Given the description of an element on the screen output the (x, y) to click on. 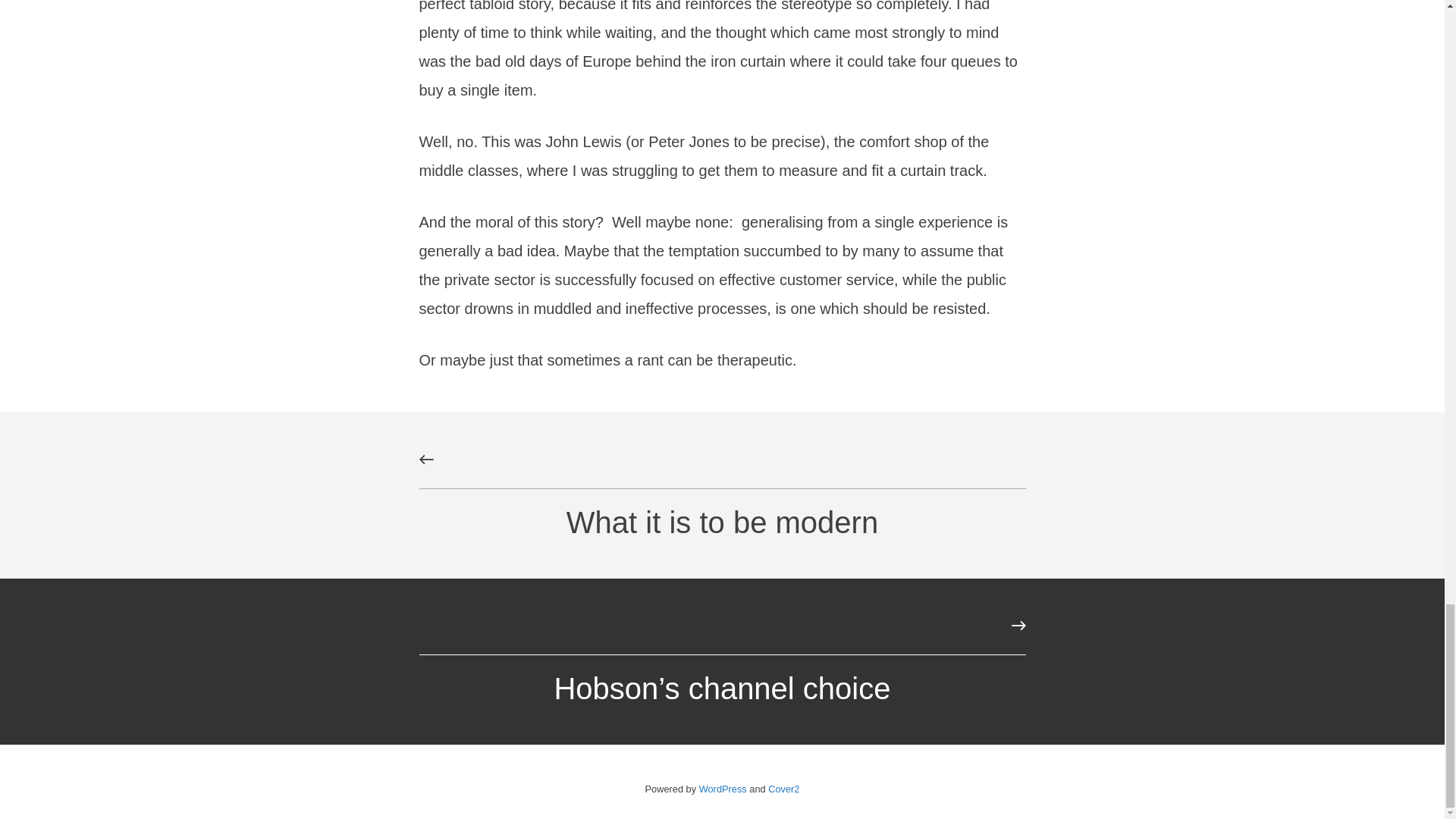
Cover2 (783, 788)
Previous (426, 459)
WordPress (722, 788)
Next (1017, 625)
